Given the description of an element on the screen output the (x, y) to click on. 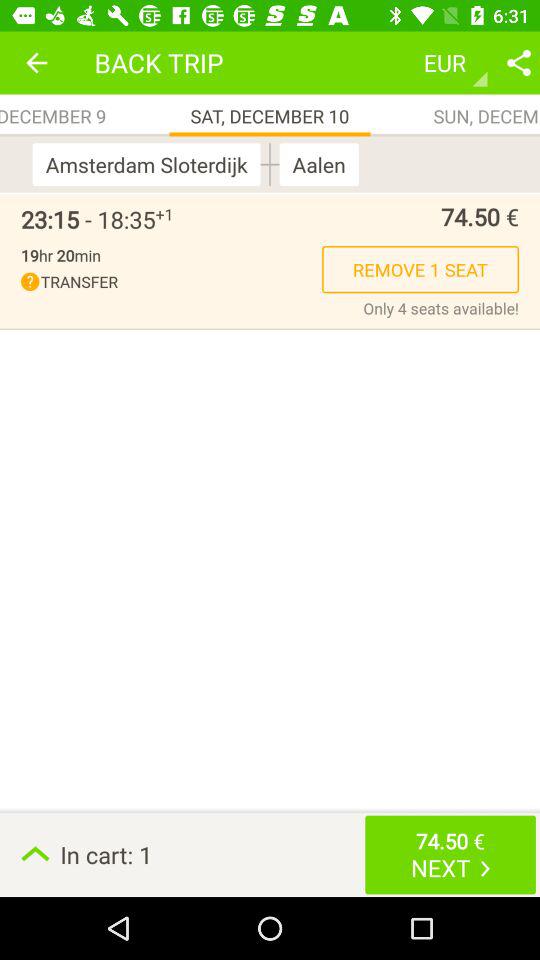
turn on item to the left of the +1 icon (88, 219)
